Given the description of an element on the screen output the (x, y) to click on. 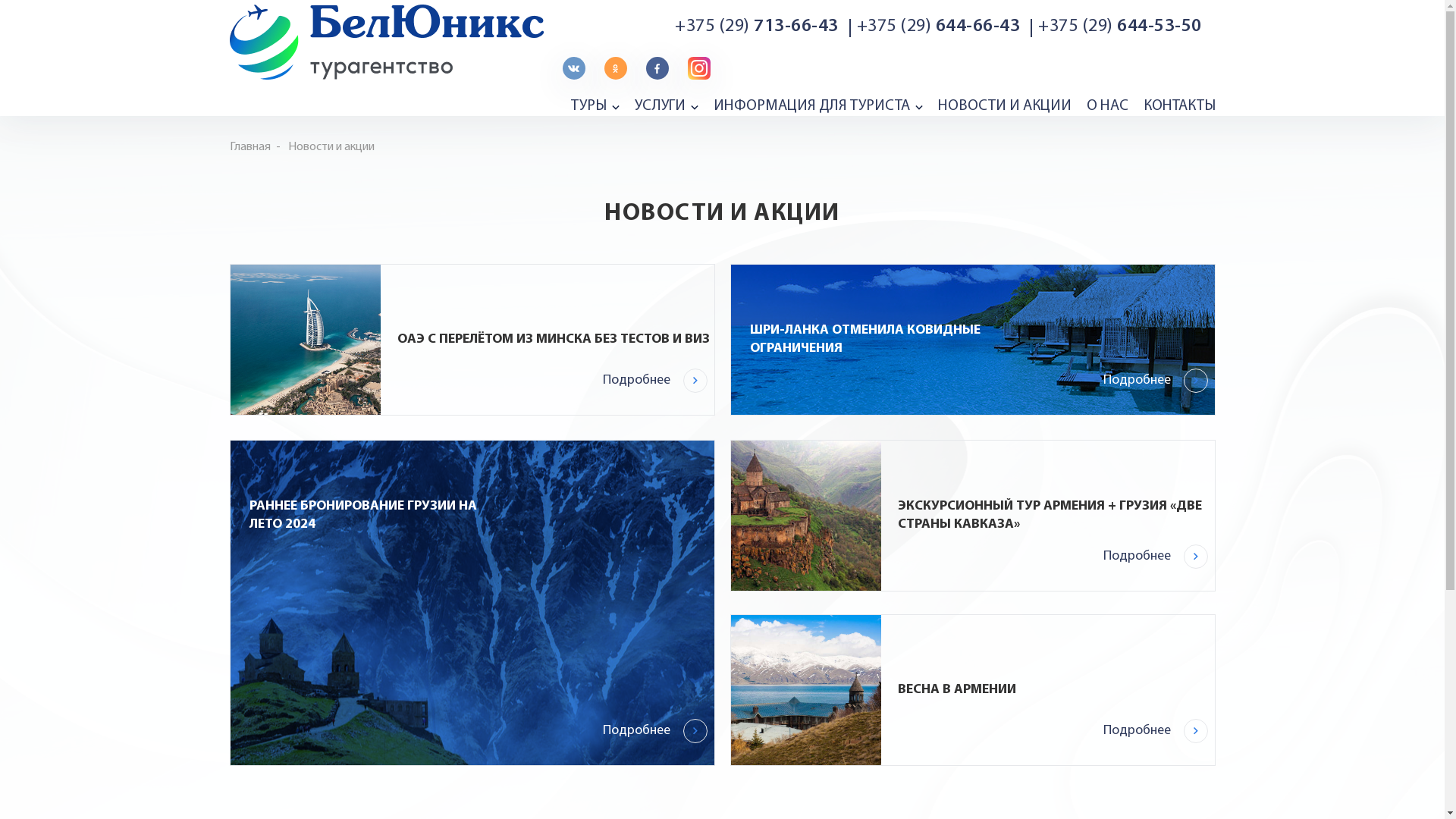
Instagramm Element type: text (698, 67)
+375 (29) 713-66-43 Element type: text (756, 26)
Facebook Element type: text (657, 67)
+375 (29) 644-66-43 Element type: text (938, 26)
+375 (29) 644-53-50 Element type: text (1119, 26)
